Given the description of an element on the screen output the (x, y) to click on. 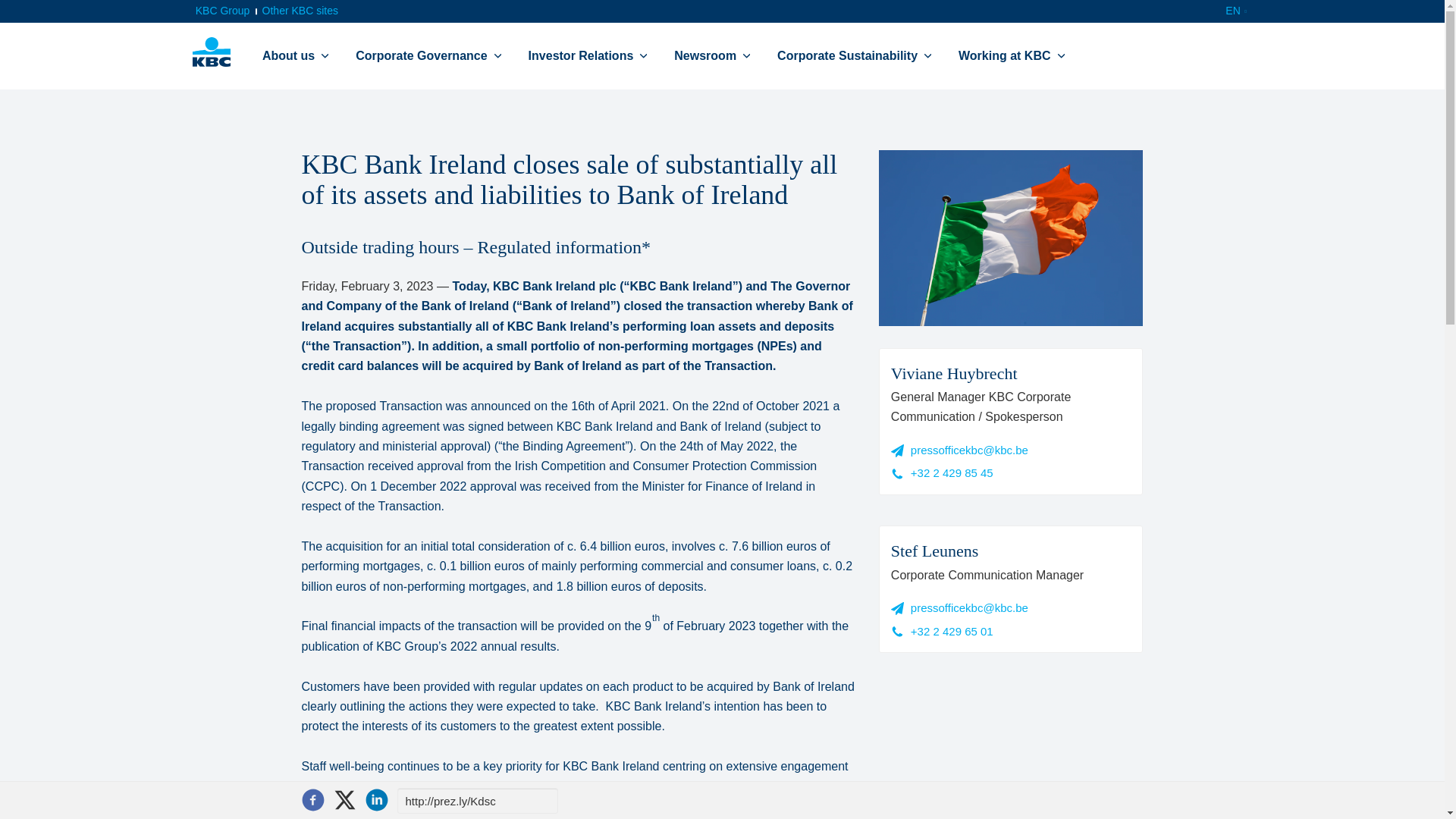
Other KBC sites (299, 10)
About us (288, 55)
KBC Particulieren (211, 51)
Investor Relations (580, 55)
Corporate Governance (420, 55)
EN (1236, 11)
KBC Group (222, 11)
